Given the description of an element on the screen output the (x, y) to click on. 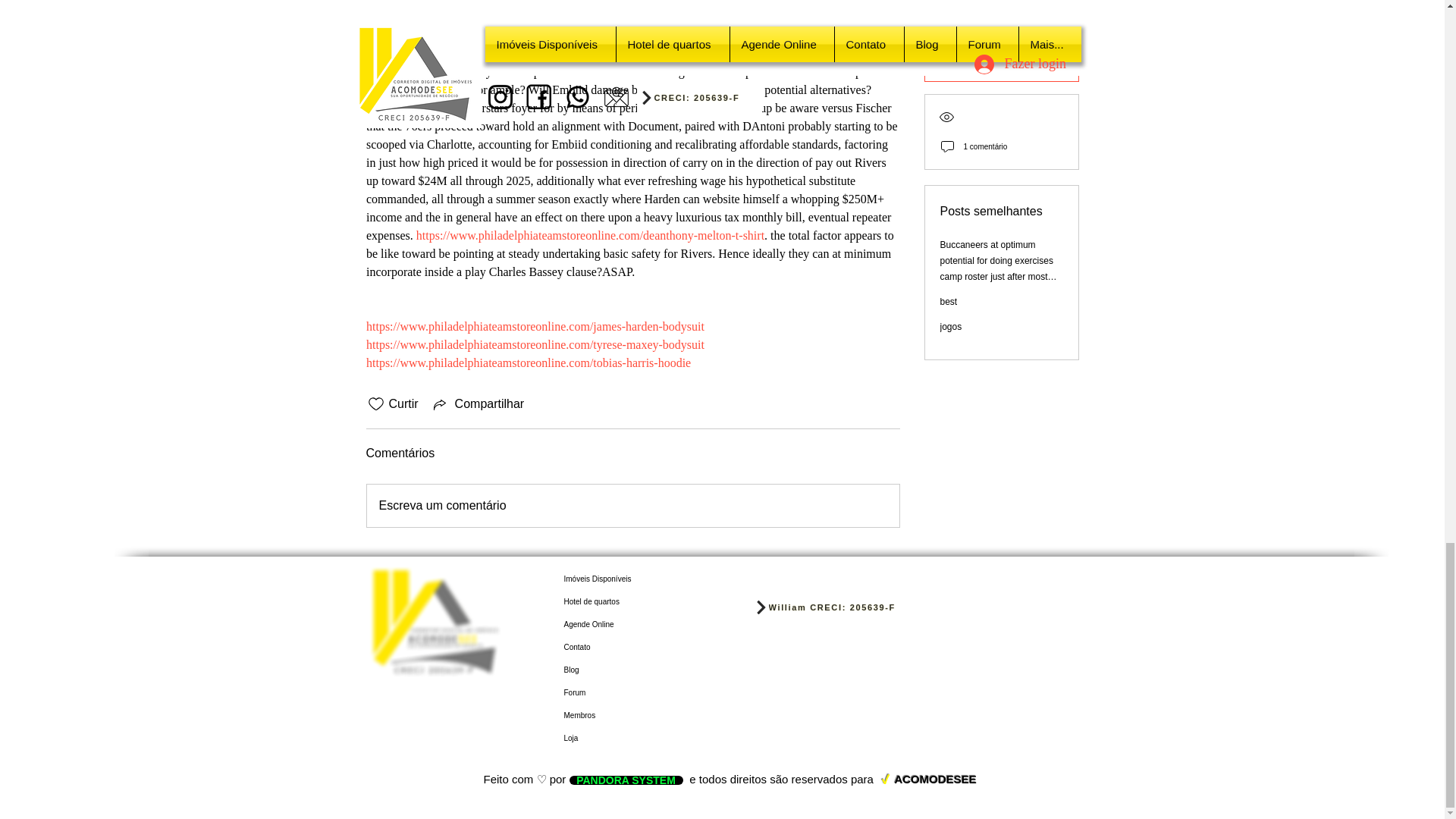
Compartilhar (477, 403)
